Given the description of an element on the screen output the (x, y) to click on. 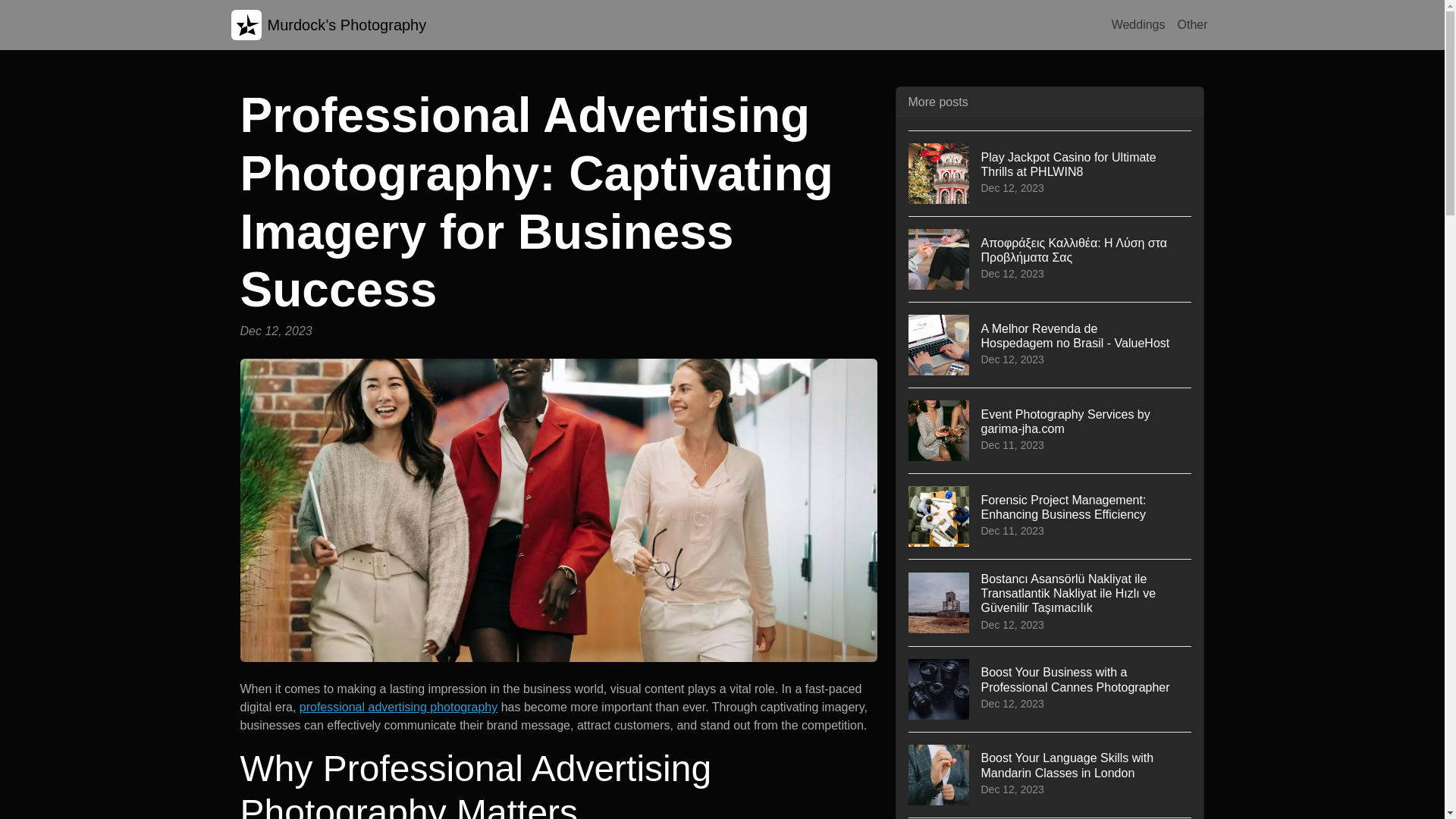
Other (1191, 24)
professional advertising photography (398, 707)
Weddings (1050, 430)
